Given the description of an element on the screen output the (x, y) to click on. 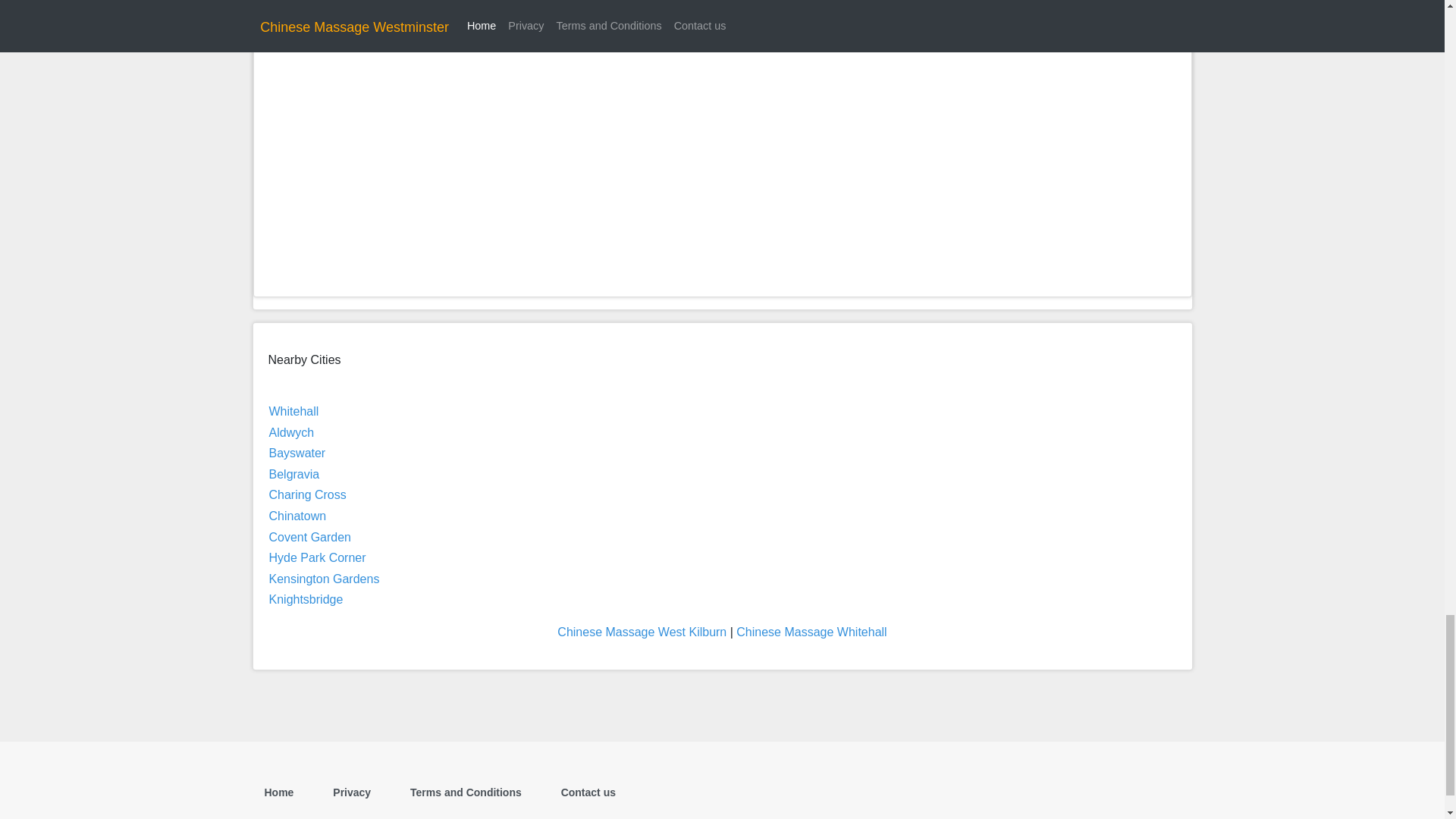
Knightsbridge (304, 599)
Belgravia (292, 473)
Chinese Massage West Kilburn (641, 631)
Bayswater (295, 452)
Whitehall (292, 410)
Hyde Park Corner (316, 557)
Chinese Massage Whitehall (811, 631)
Charing Cross (306, 494)
Covent Garden (308, 536)
Chinatown (296, 515)
